Given the description of an element on the screen output the (x, y) to click on. 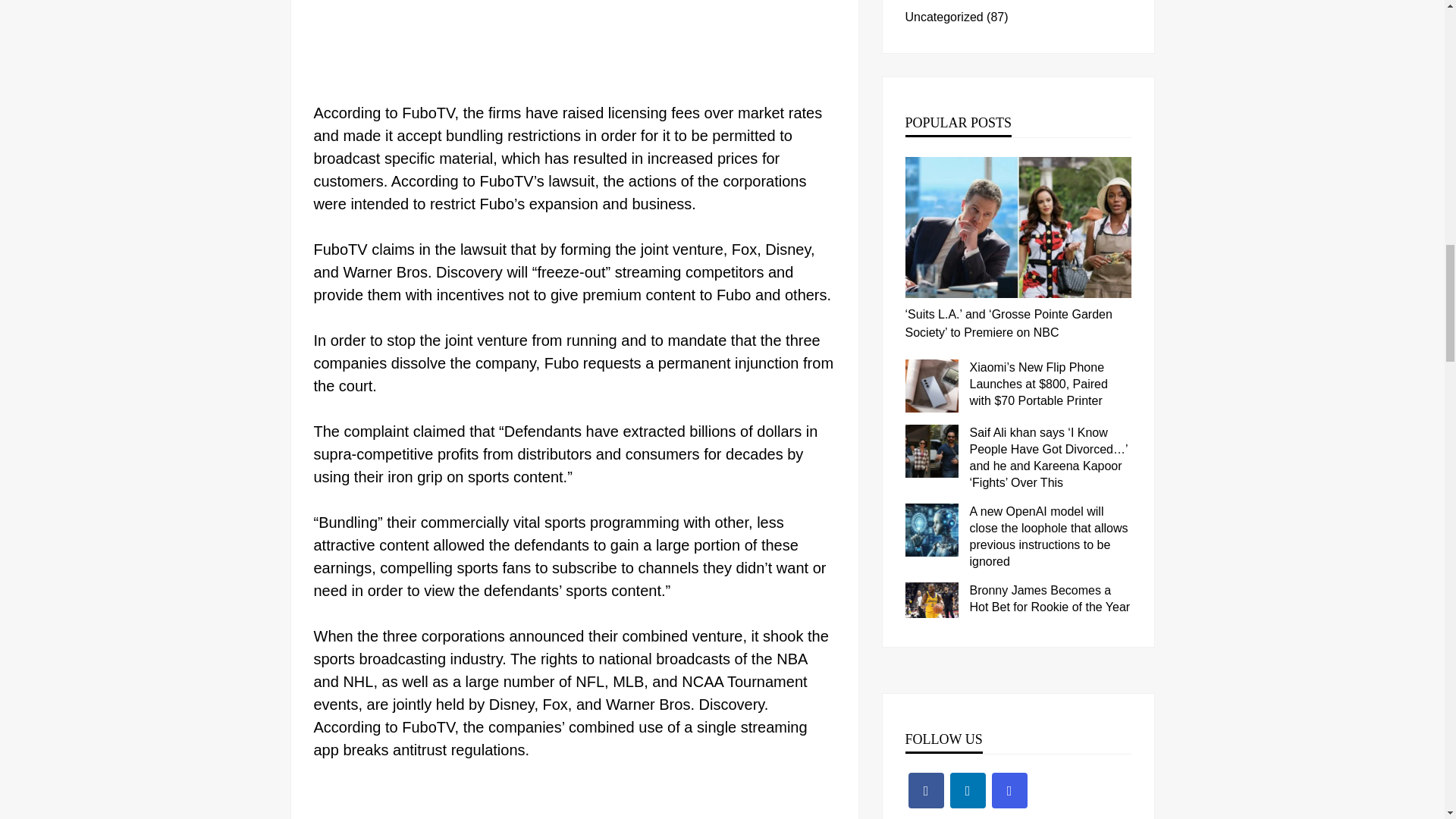
Advertisement (574, 801)
Advertisement (574, 47)
